Given the description of an element on the screen output the (x, y) to click on. 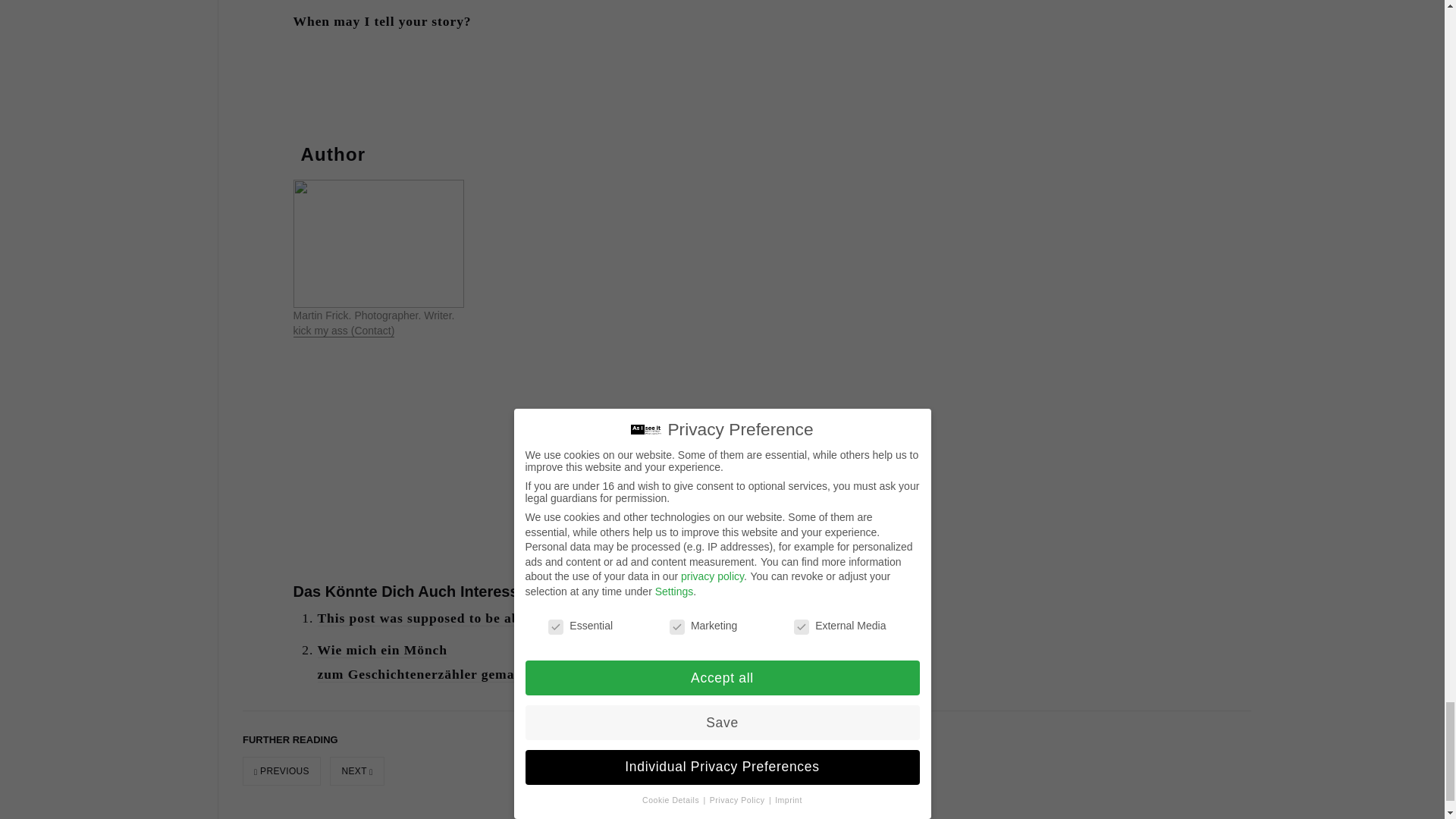
This post was supposed to be about LAUREN. (462, 618)
PREVIOUS (281, 770)
NEXT (357, 770)
This post was supposed to be about LAUREN. (462, 618)
